Given the description of an element on the screen output the (x, y) to click on. 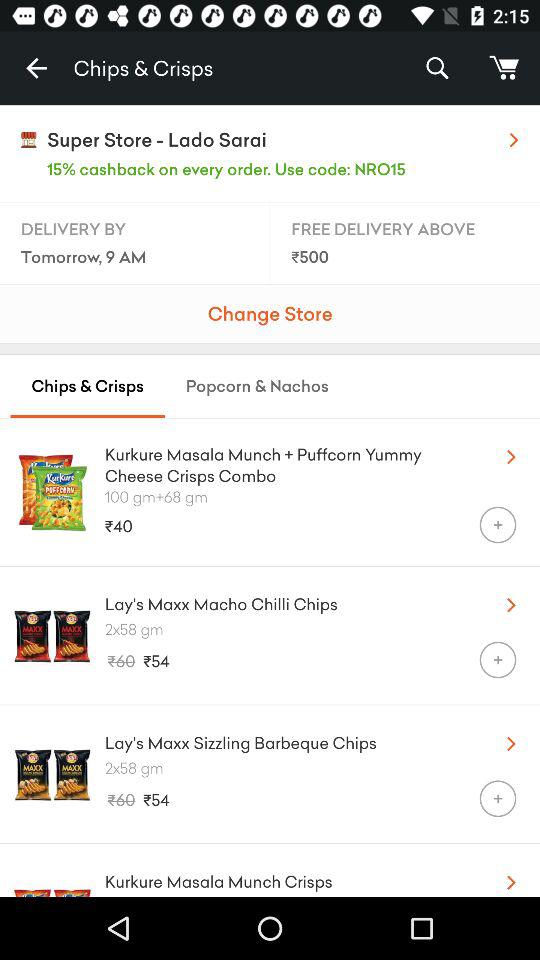
turn on the item below the 2x58 gm icon (497, 659)
